Given the description of an element on the screen output the (x, y) to click on. 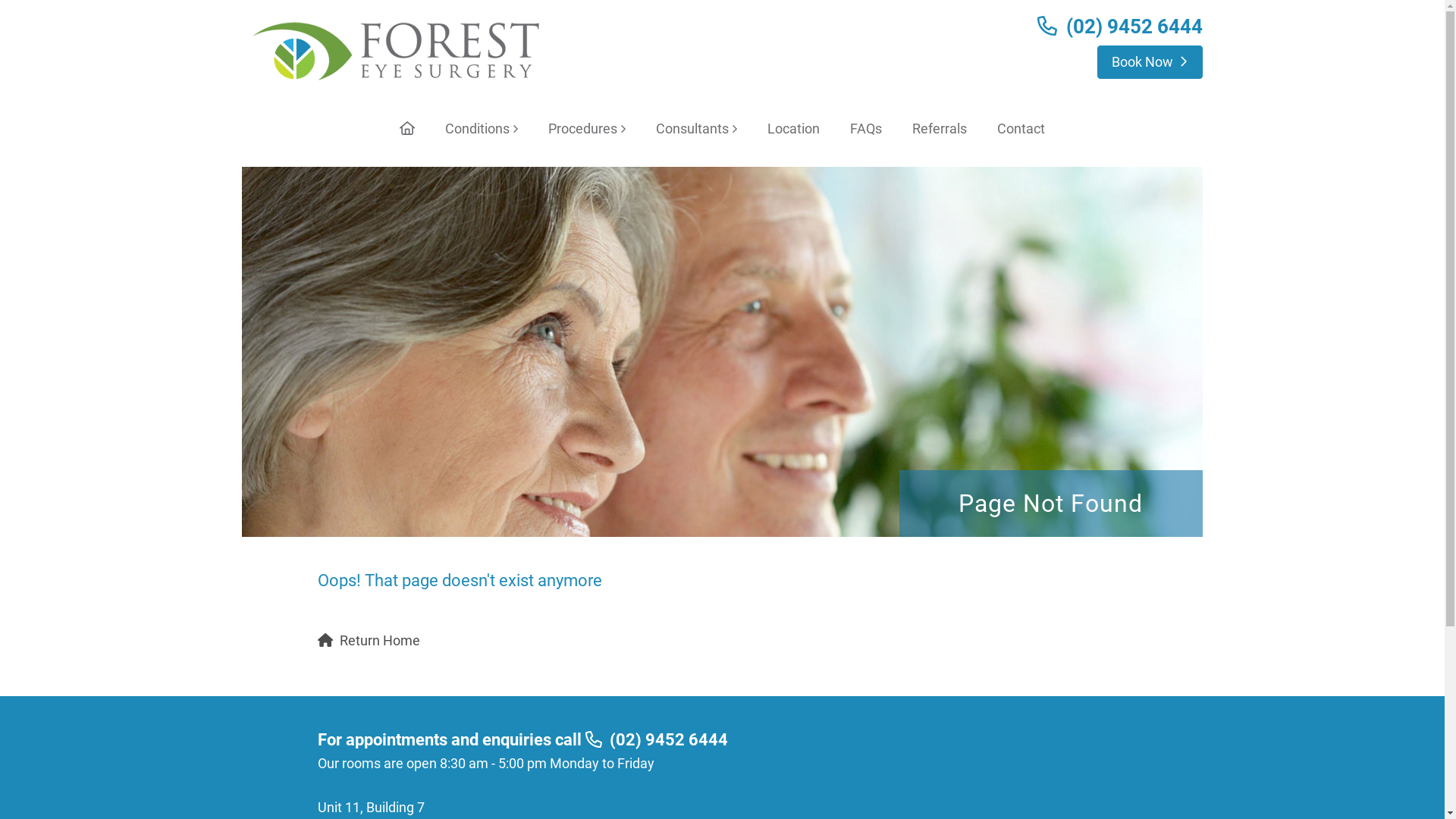
Conditions Element type: text (481, 128)
FAQs Element type: text (865, 128)
Consultants Element type: text (696, 128)
Contact Element type: text (1021, 128)
Location Element type: text (793, 128)
(02) 9452 6444 Element type: text (668, 739)
(02) 9452 6444 Element type: text (1134, 26)
Book Now   Element type: text (1149, 61)
Return Home Element type: text (379, 640)
Procedures Element type: text (586, 128)
Referrals Element type: text (939, 128)
